Given the description of an element on the screen output the (x, y) to click on. 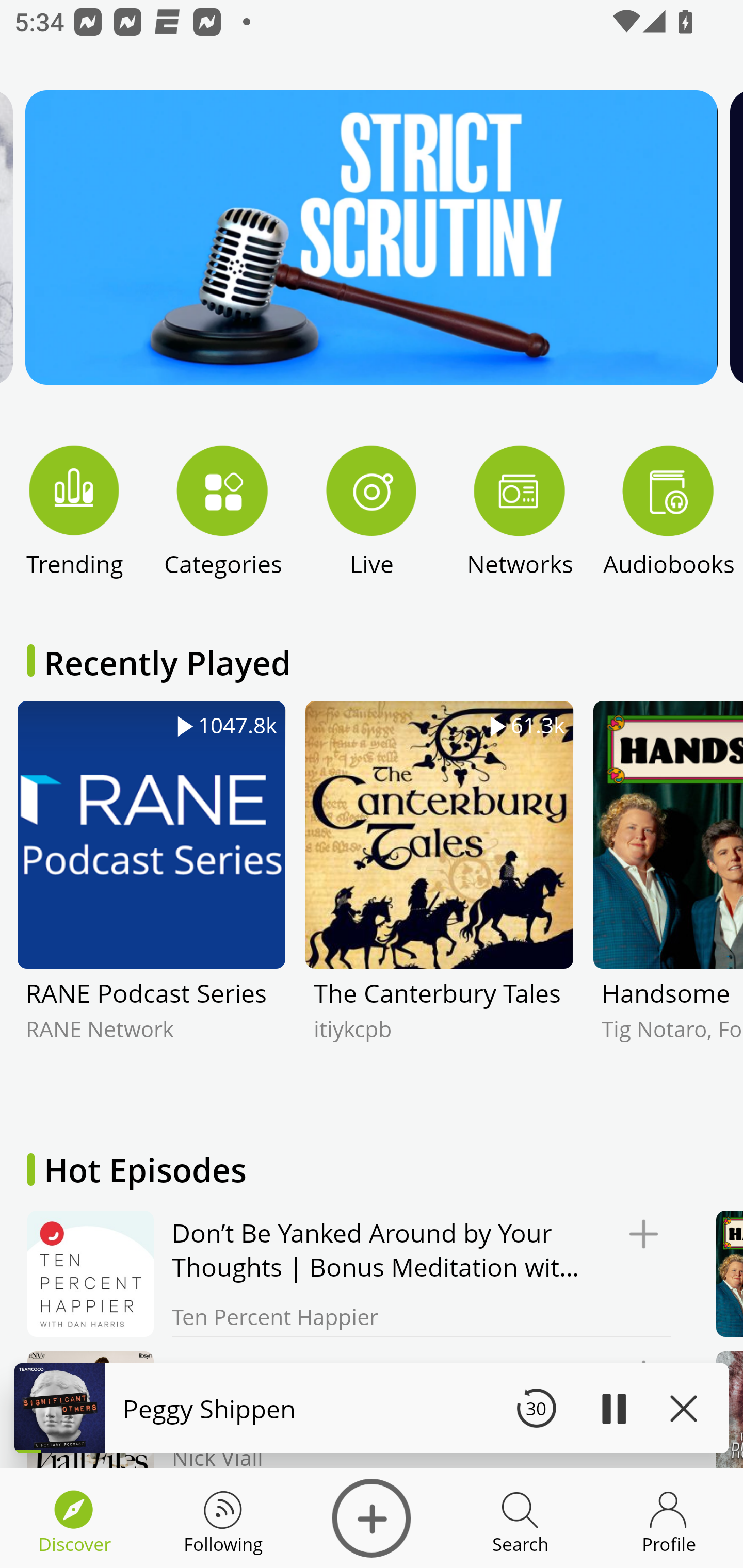
1047.8k RANE Podcast Series RANE Network (151, 902)
61.3k The Canterbury Tales itiykcpb (439, 902)
Handsome Tig Notaro, Fortune Feimster, Mae Martin (667, 902)
Peggy Shippen 30 Seek Backward 119975.0 Play (371, 1407)
Play (613, 1407)
30 Seek Backward (536, 1407)
Discover Following (222, 1518)
Discover (371, 1518)
Discover Search (519, 1518)
Discover Profile (668, 1518)
